Given the description of an element on the screen output the (x, y) to click on. 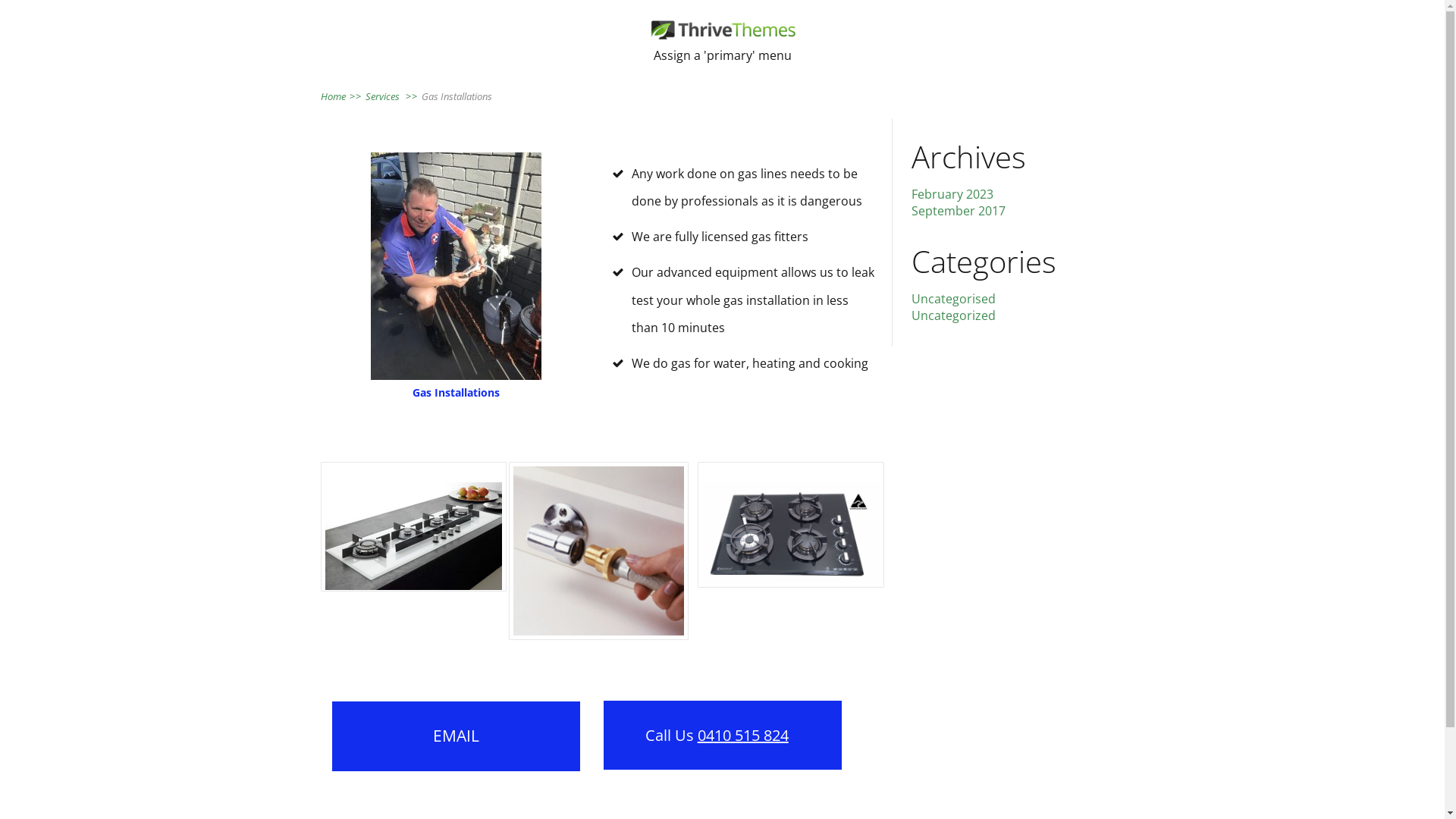
EMAIL Element type: text (456, 736)
Gas cooktop No Problem Plumbing Element type: hover (790, 531)
Gas stovetop No Problem Plumbing Element type: hover (413, 535)
Gas Installations Element type: text (456, 96)
Services >> Element type: text (393, 96)
IMG_1403 Element type: hover (455, 265)
0410 515 824 Element type: text (742, 734)
Uncategorized Element type: text (953, 314)
February 2023 Element type: text (952, 193)
September 2017 Element type: text (958, 209)
Home >> Element type: text (342, 96)
Uncategorised Element type: text (953, 297)
Gas heater outlet No Problem Plumbing Element type: hover (598, 550)
